Given the description of an element on the screen output the (x, y) to click on. 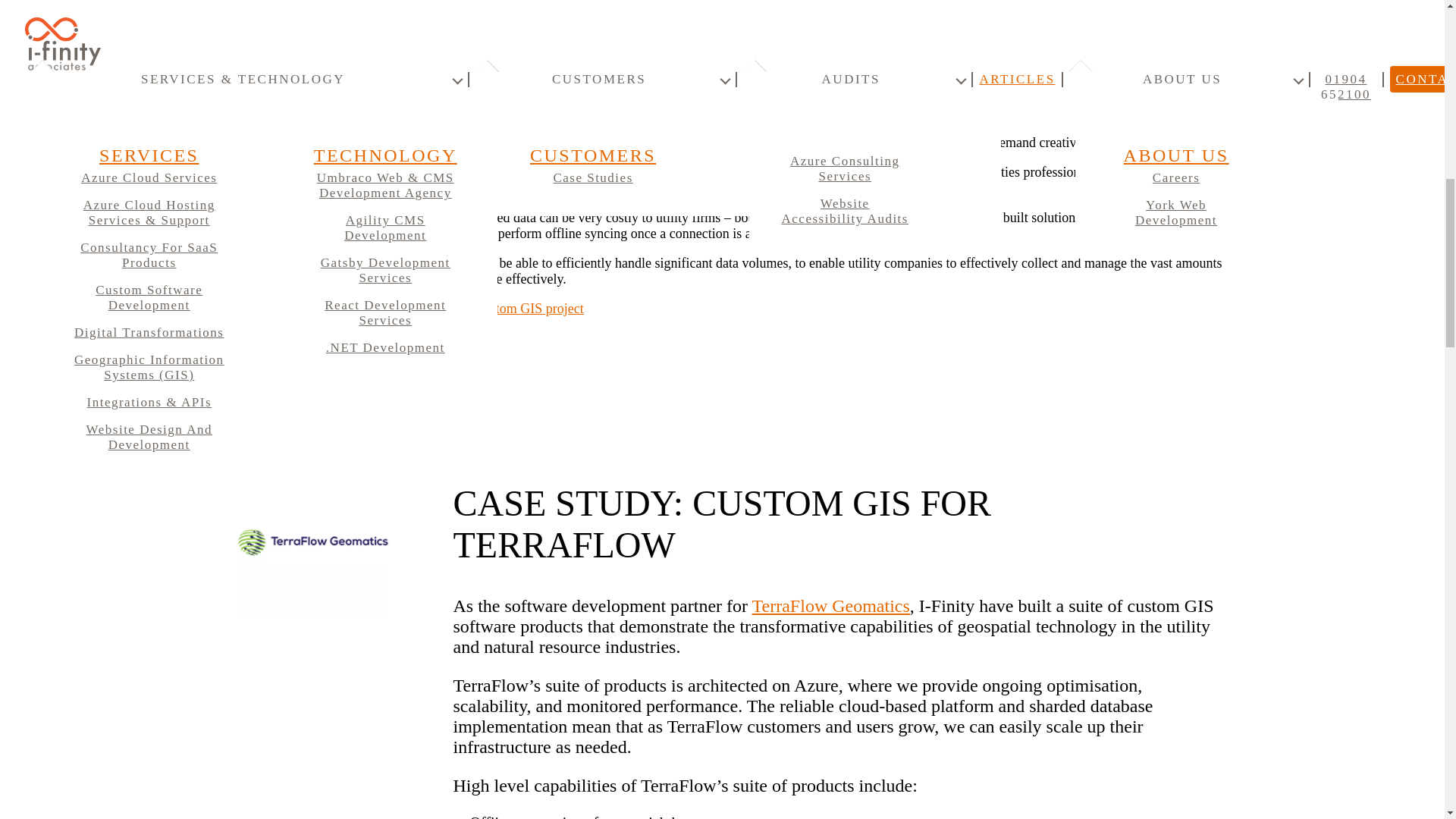
the renewable energy industry (468, 142)
TerraFlow Geomatics (831, 605)
Talk to us about your custom GIS project (470, 308)
